Given the description of an element on the screen output the (x, y) to click on. 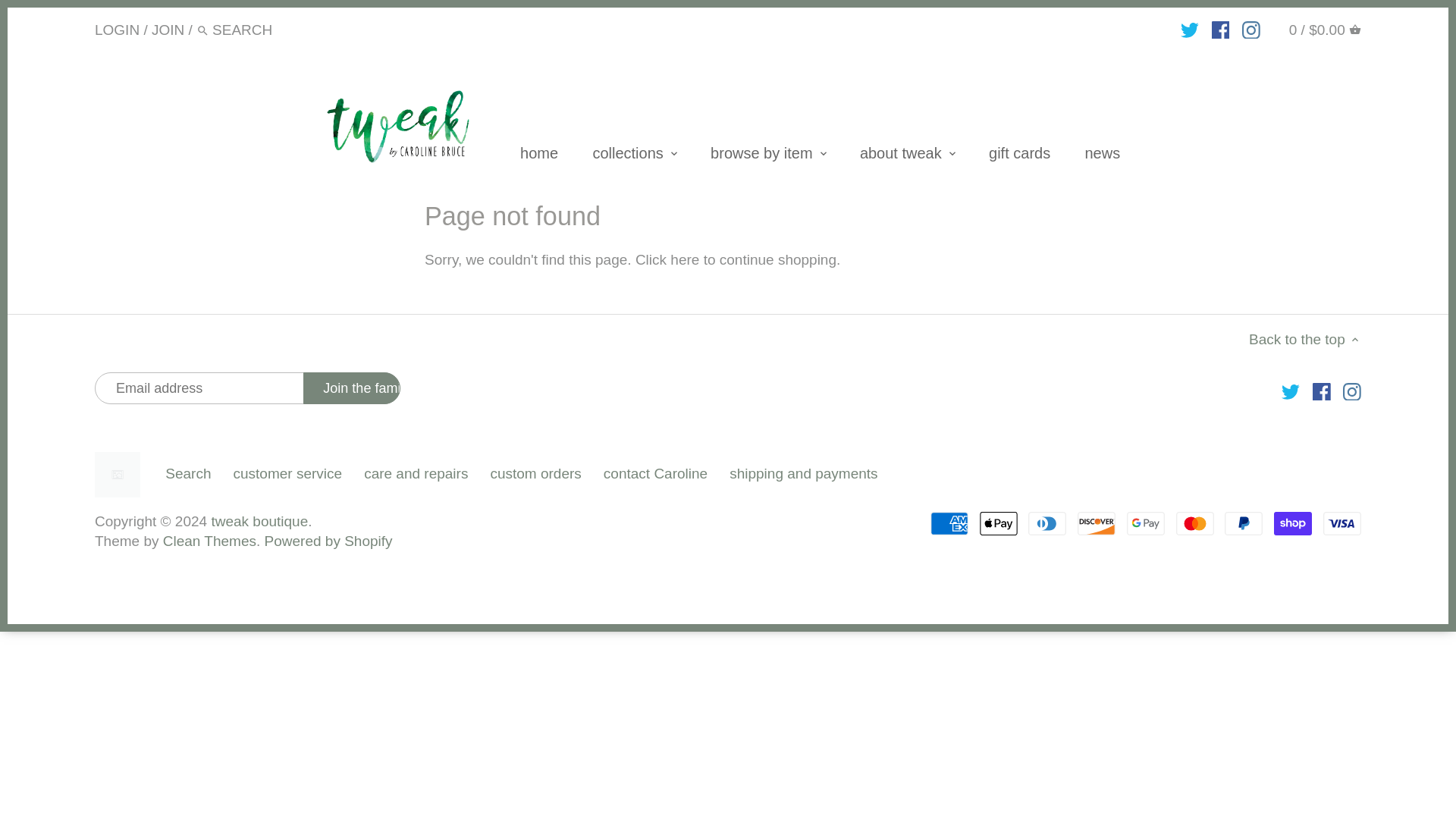
Facebook (1321, 392)
LOGIN (116, 28)
Twitter (1290, 392)
Instagram (1351, 392)
TWITTER (1189, 30)
collections (627, 156)
Join the family! (351, 388)
CART (1355, 29)
home (539, 156)
JOIN (167, 28)
INSTAGRAM (1250, 30)
Search (202, 30)
FACEBOOK (1220, 30)
